Given the description of an element on the screen output the (x, y) to click on. 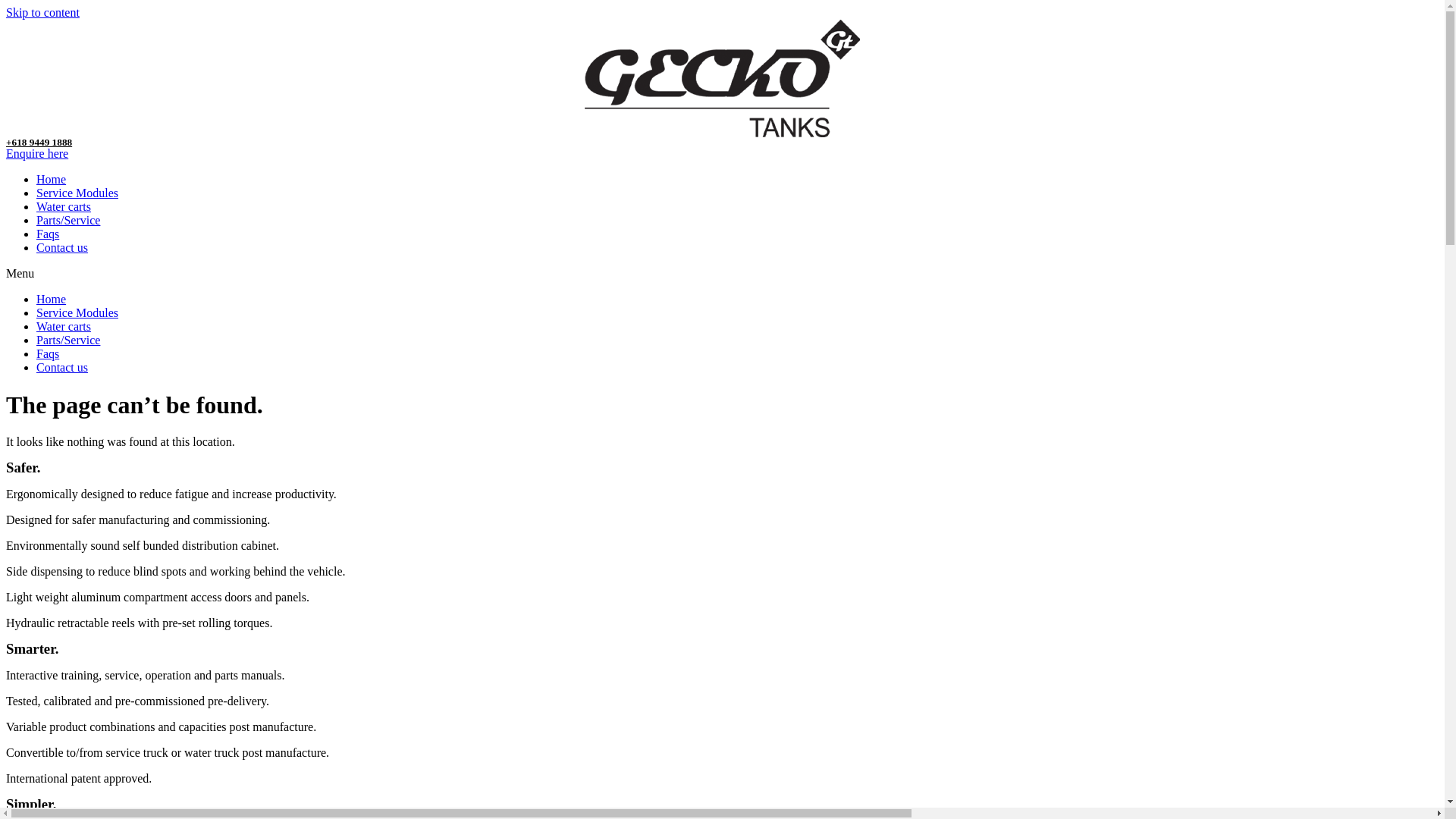
Water carts Element type: text (63, 326)
Home Element type: text (50, 298)
Parts/Service Element type: text (68, 339)
Service Modules Element type: text (77, 312)
Contact us Element type: text (61, 366)
Faqs Element type: text (47, 353)
+618 9449 1888 Element type: text (39, 141)
Service Modules Element type: text (77, 192)
Home Element type: text (50, 178)
Enquire here Element type: text (37, 153)
Contact us Element type: text (61, 247)
Water carts Element type: text (63, 206)
Faqs Element type: text (47, 233)
Skip to content Element type: text (42, 12)
Parts/Service Element type: text (68, 219)
